Given the description of an element on the screen output the (x, y) to click on. 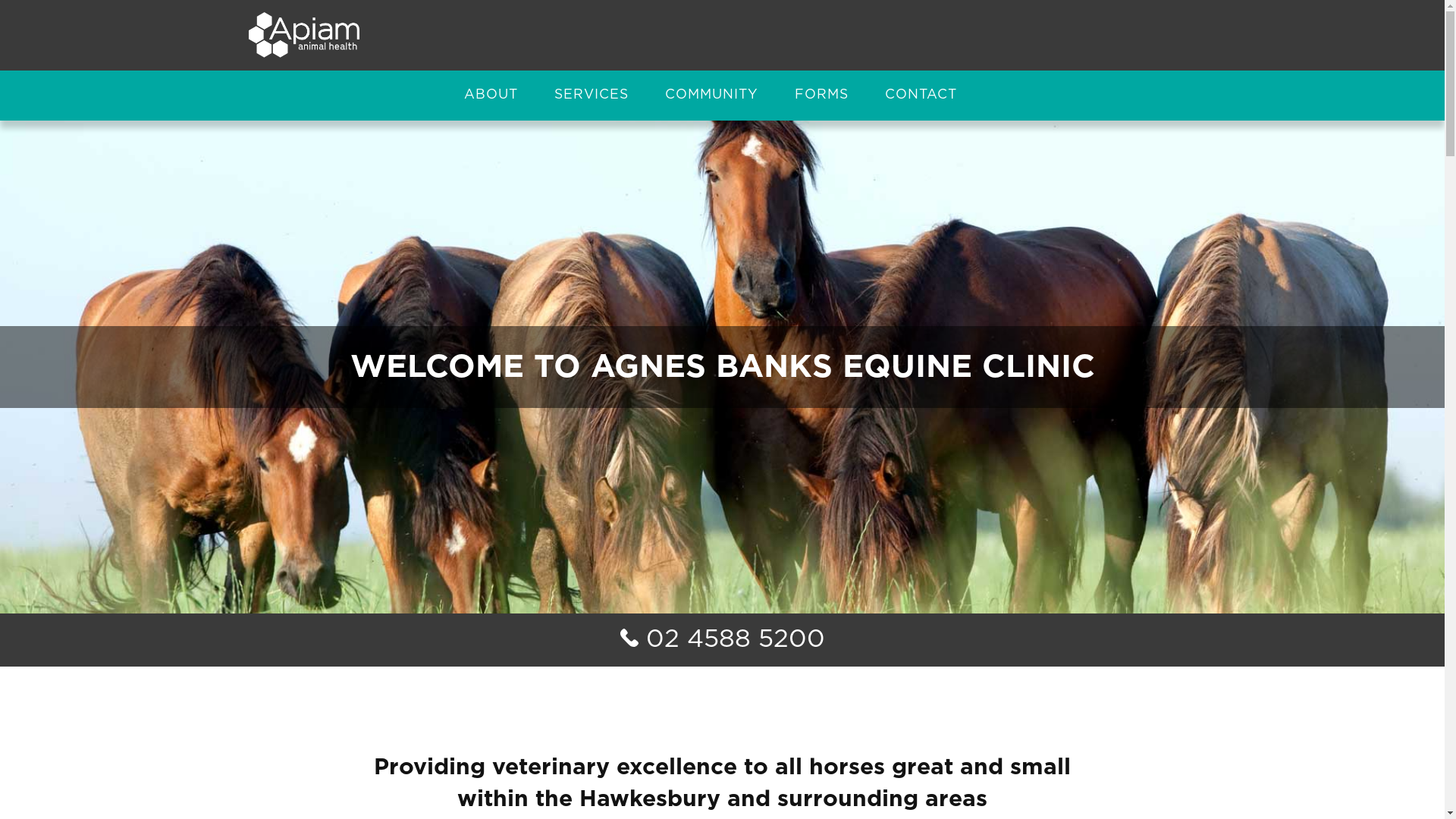
FORMS Element type: text (821, 95)
SERVICES Element type: text (590, 95)
ABOUT Element type: text (491, 95)
CONTACT Element type: text (920, 95)
02 4588 5200 Element type: text (722, 639)
COMMUNITY Element type: text (710, 95)
